Given the description of an element on the screen output the (x, y) to click on. 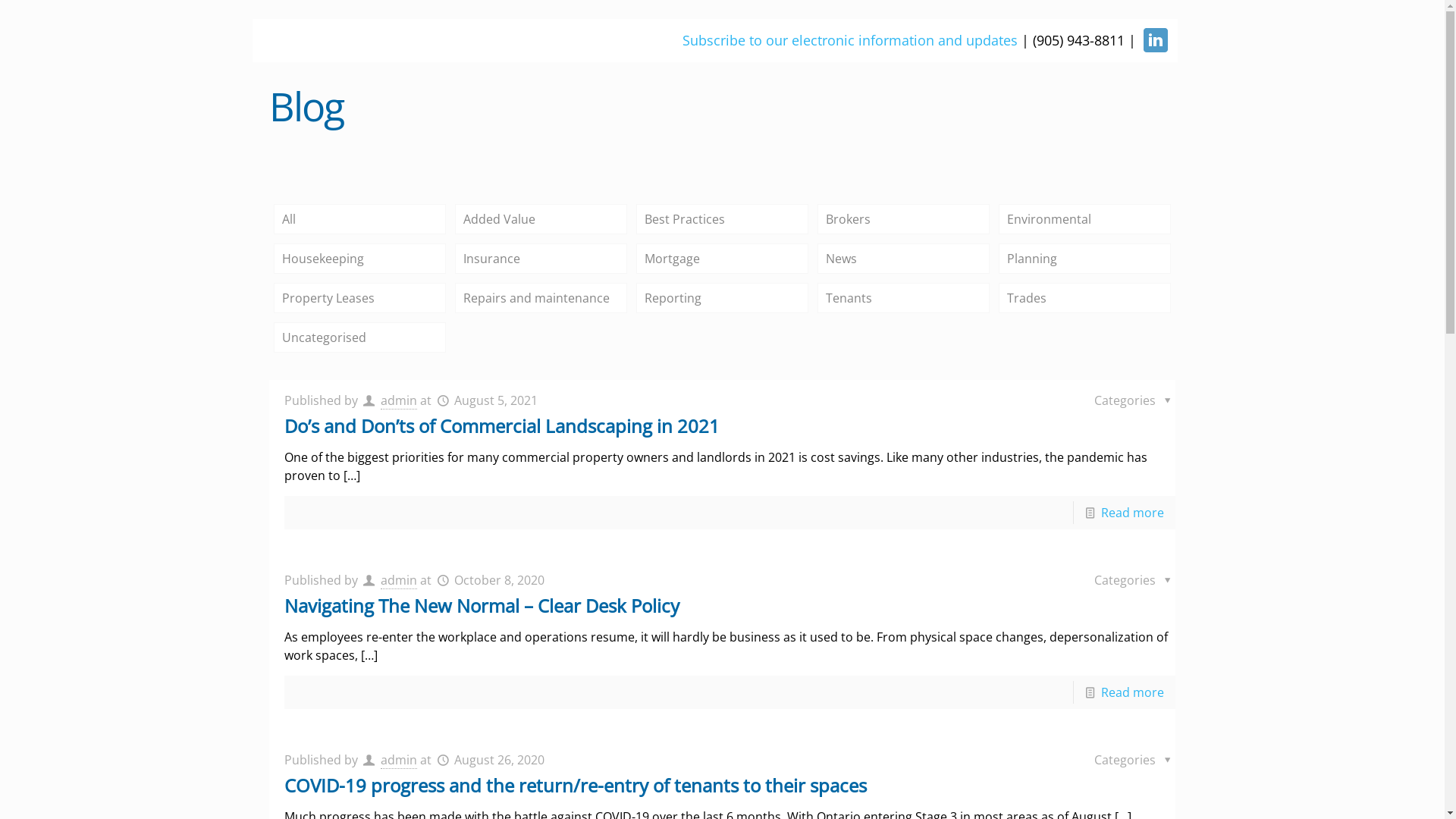
Added Value Element type: text (541, 218)
All Element type: text (359, 218)
Read more Element type: text (1132, 512)
News Element type: text (903, 258)
Trades Element type: text (1084, 297)
Mortgage Element type: text (722, 258)
Insurance Element type: text (541, 258)
Best Practices Element type: text (722, 218)
Housekeeping Element type: text (359, 258)
admin Element type: text (398, 400)
Planning Element type: text (1084, 258)
Tenants Element type: text (903, 297)
admin Element type: text (398, 580)
Subscribe to our electronic information and updates Element type: text (849, 40)
Uncategorised Element type: text (359, 337)
Read more Element type: text (1132, 692)
admin Element type: text (398, 759)
Property Leases Element type: text (359, 297)
Environmental Element type: text (1084, 218)
Reporting Element type: text (722, 297)
Brokers Element type: text (903, 218)
Repairs and maintenance Element type: text (541, 297)
